Given the description of an element on the screen output the (x, y) to click on. 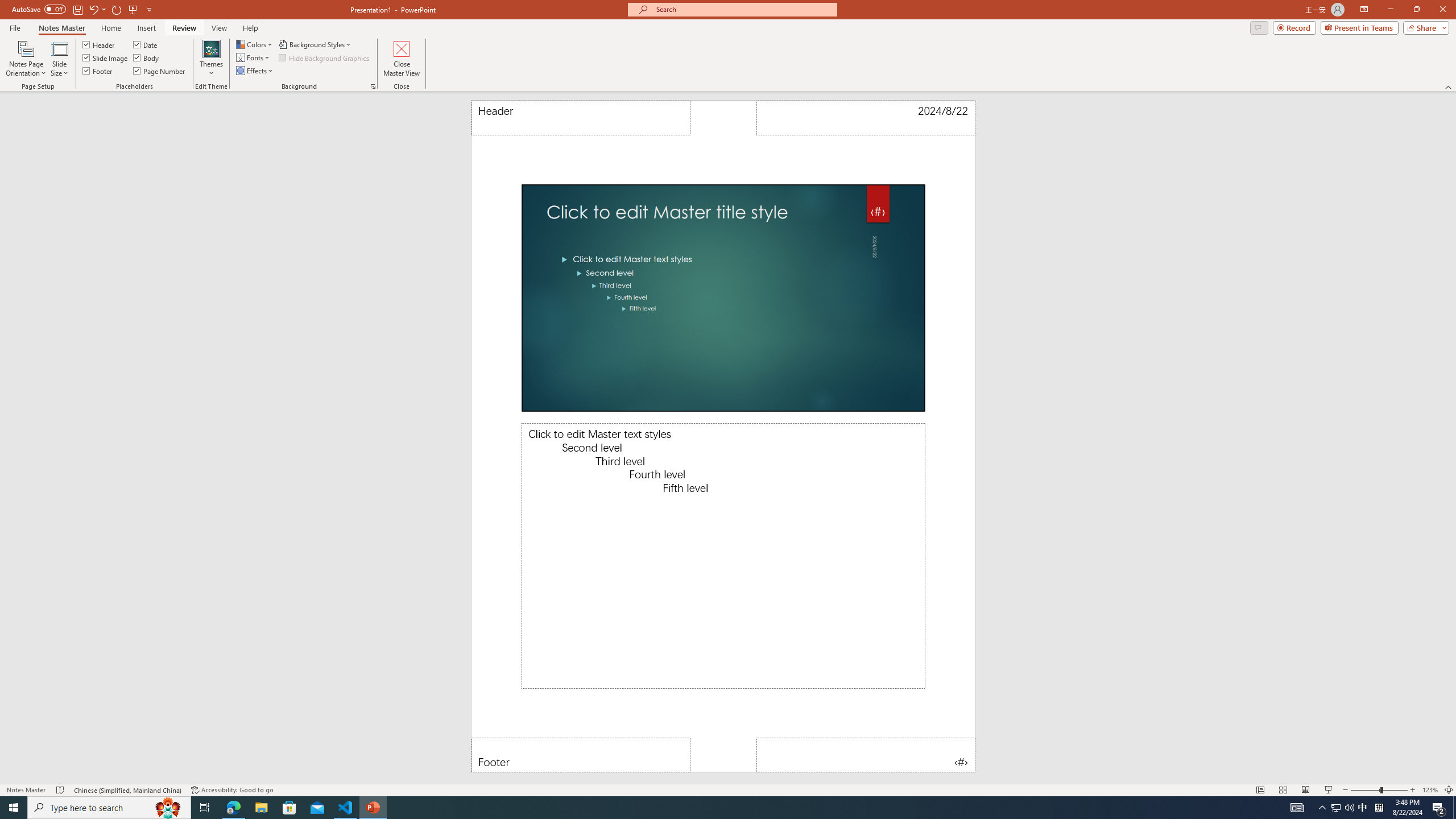
Colors (255, 44)
Header (98, 44)
Fonts (253, 56)
Date (866, 117)
